Given the description of an element on the screen output the (x, y) to click on. 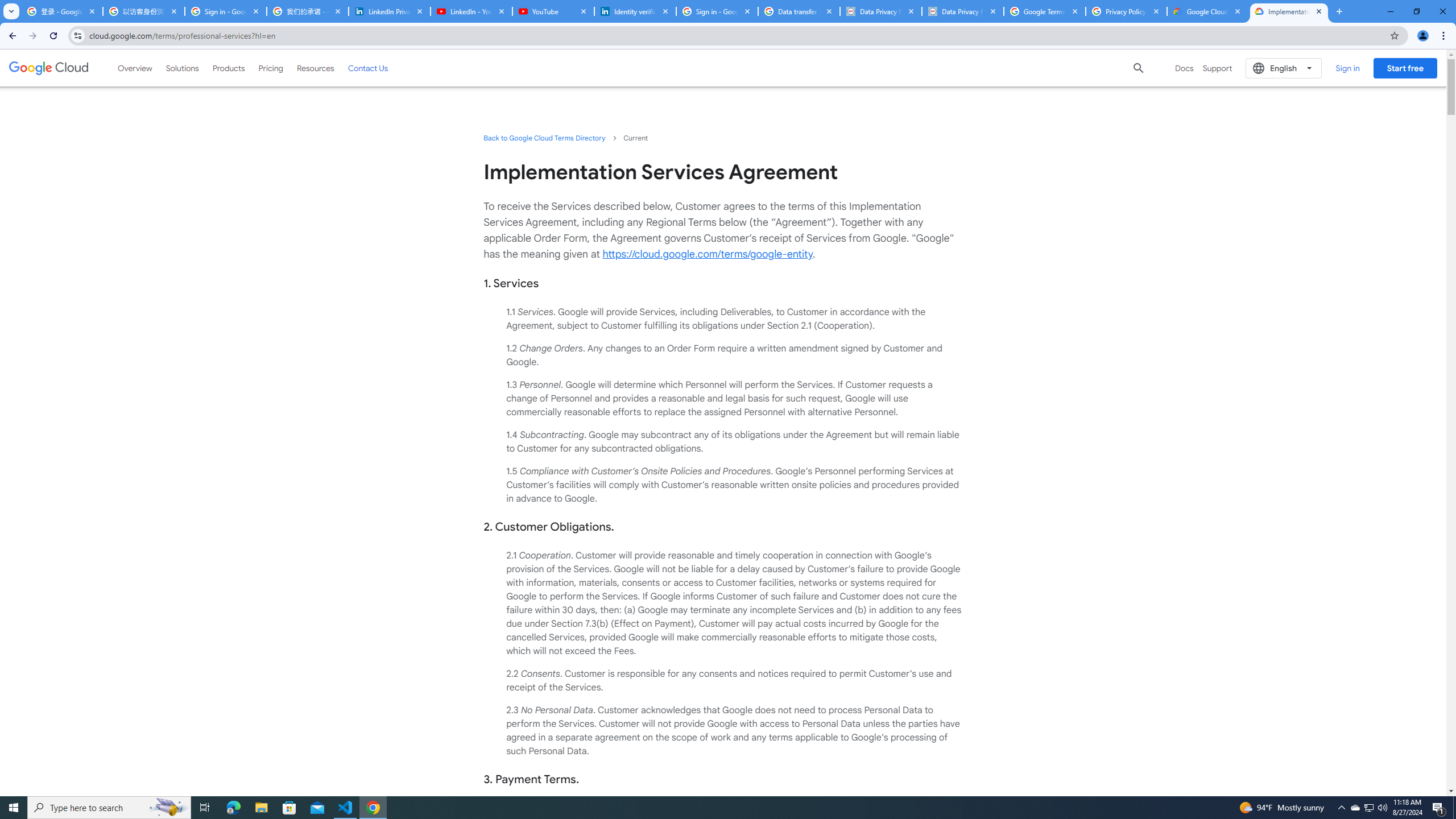
Pricing (270, 67)
Back to Google Cloud Terms Directory (544, 137)
Google Cloud Privacy Notice (1207, 11)
Sign in - Google Accounts (716, 11)
